Given the description of an element on the screen output the (x, y) to click on. 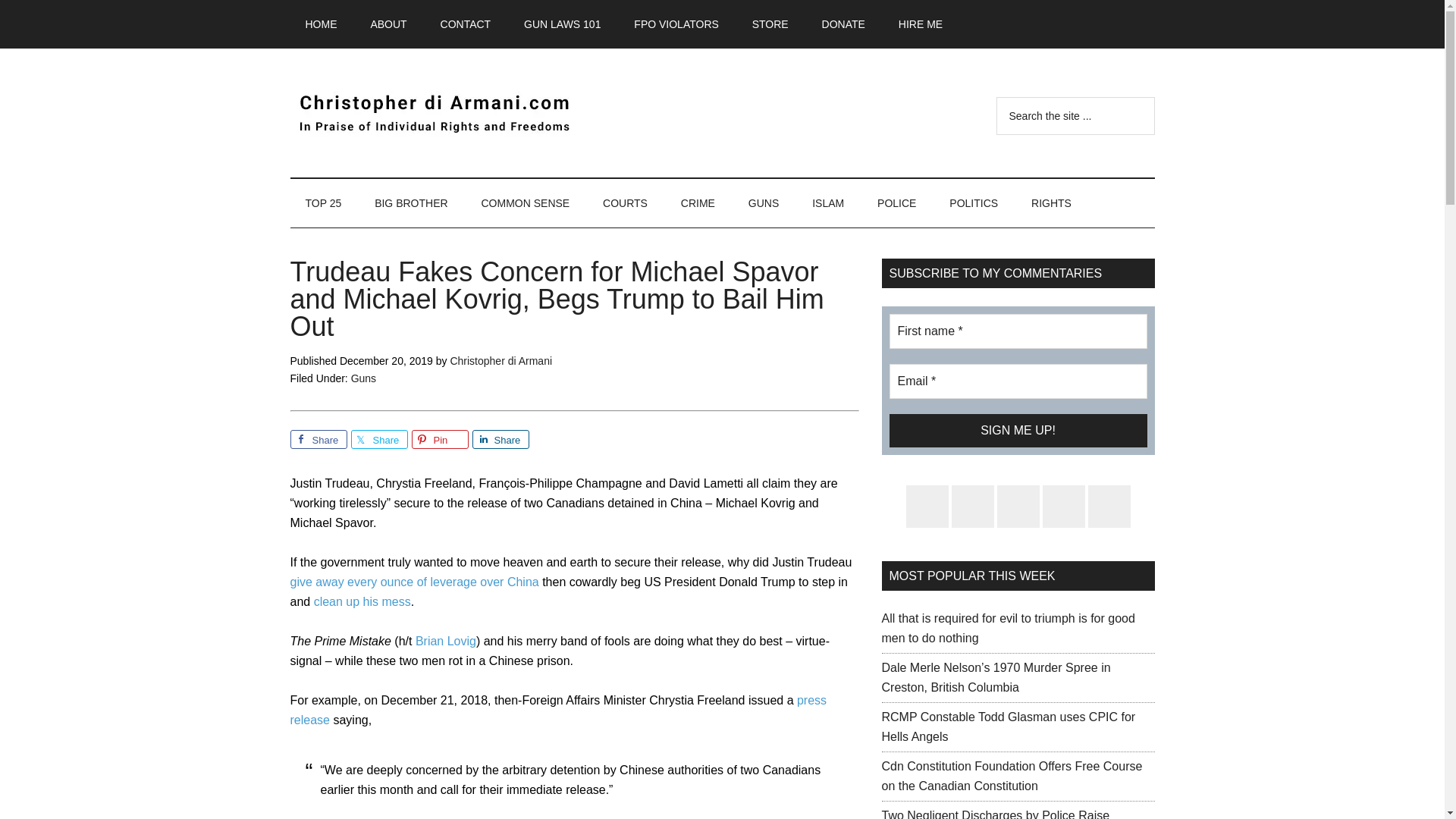
DONATE (843, 24)
ABOUT (388, 24)
BIG BROTHER (411, 203)
Christopher di Armani.com (433, 112)
Sign me up! (1017, 430)
First name (1017, 330)
STORE (769, 24)
FPO VIOLATORS (675, 24)
COURTS (625, 203)
HIRE ME (920, 24)
TOP 25 (322, 203)
